Given the description of an element on the screen output the (x, y) to click on. 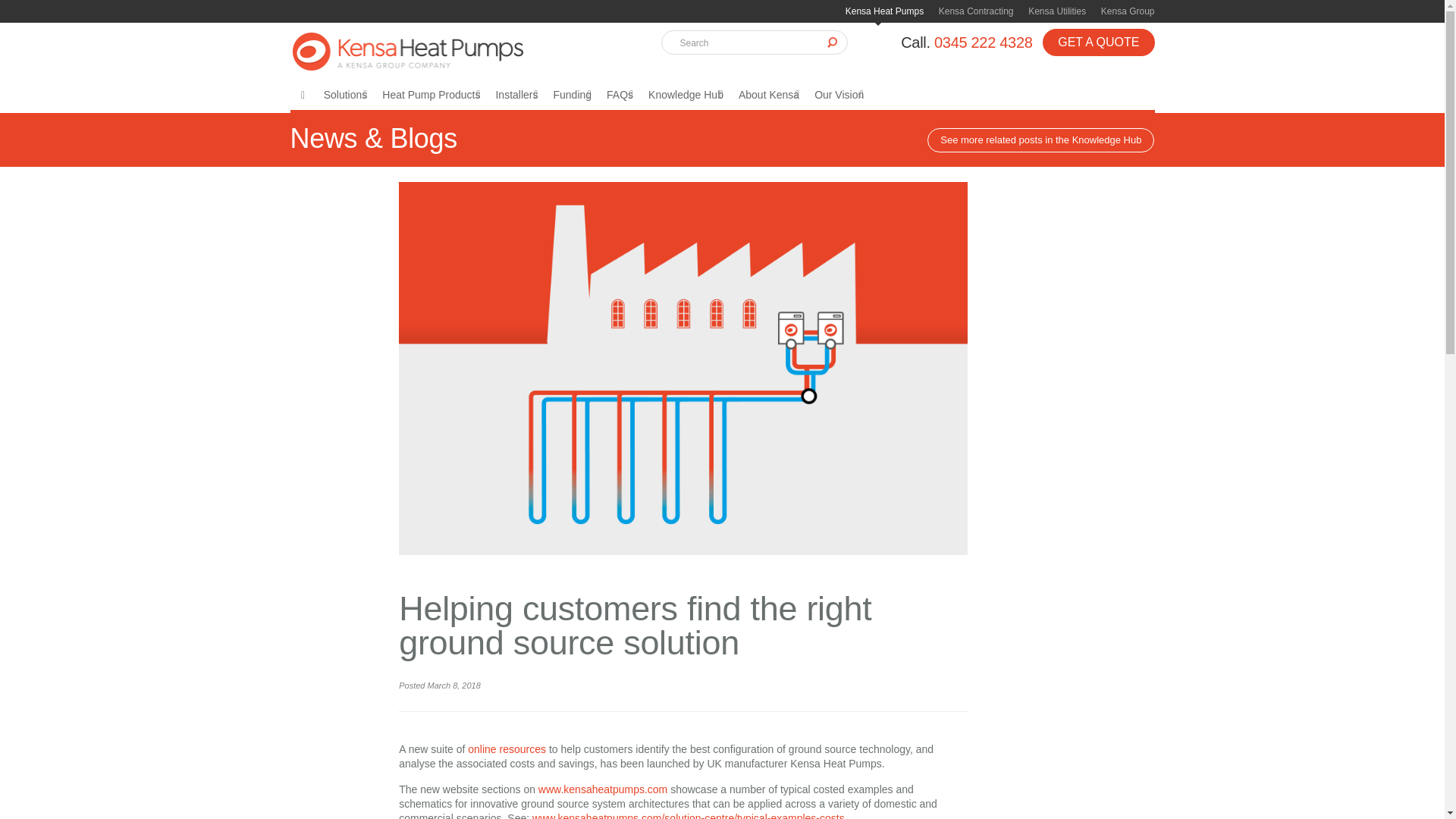
GET A QUOTE (1098, 42)
Installers (515, 94)
Kensa Utilities (1056, 10)
Funding (571, 94)
Solutions (345, 94)
Heat Pump Products (430, 94)
About  (768, 94)
Kensa Heat Pumps (884, 10)
Kensa Group (1127, 10)
0345 222 4328 (983, 42)
Kensa Contracting (976, 10)
